Given the description of an element on the screen output the (x, y) to click on. 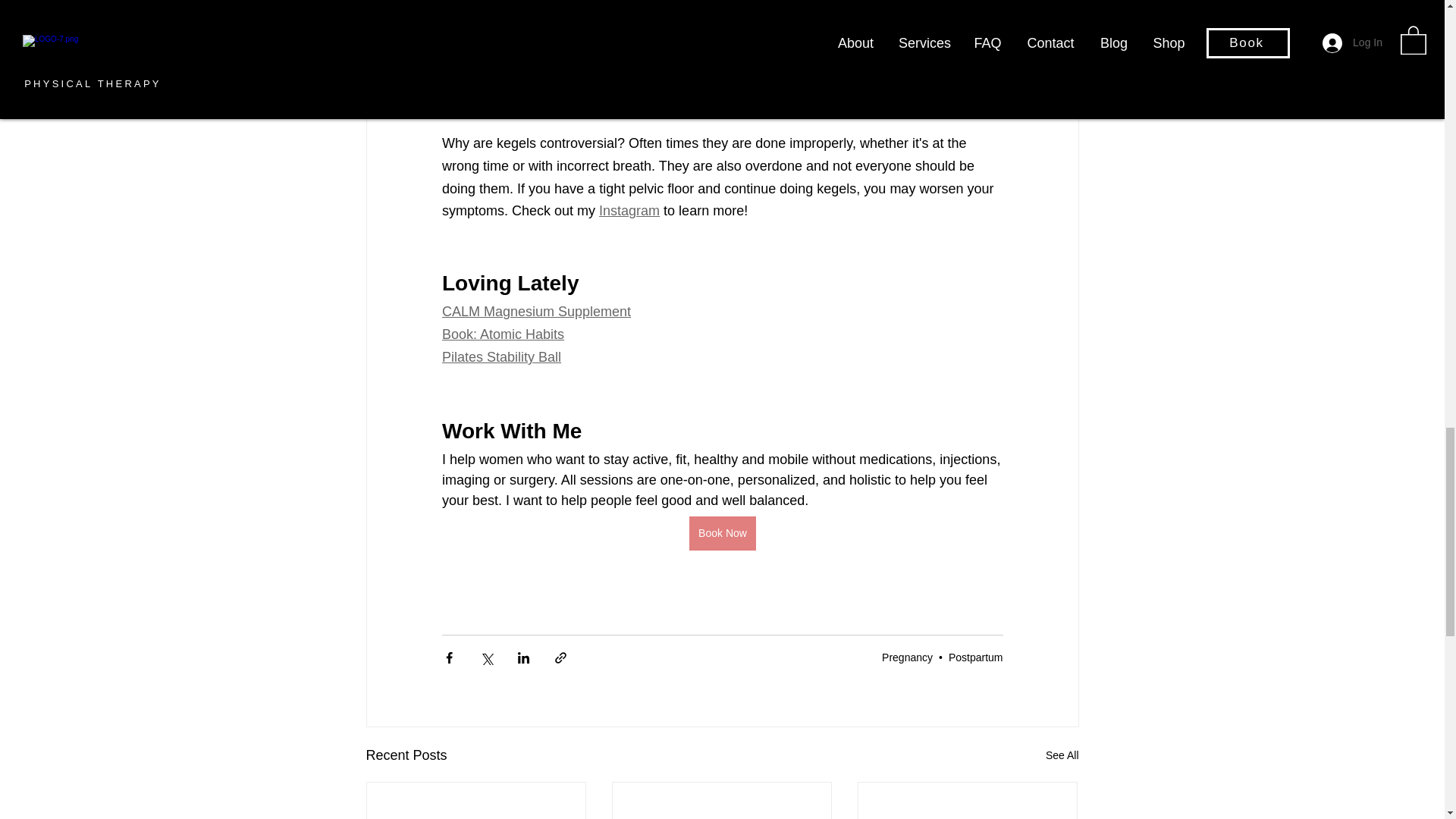
Postpartum (976, 657)
Instagram (628, 210)
Pregnancy (907, 657)
See All (1061, 755)
Book: Atomic Habits (502, 334)
CALM Magnesium Supplement (535, 311)
Book Now (721, 533)
Pilates Stability Ball (500, 356)
here (831, 98)
